Given the description of an element on the screen output the (x, y) to click on. 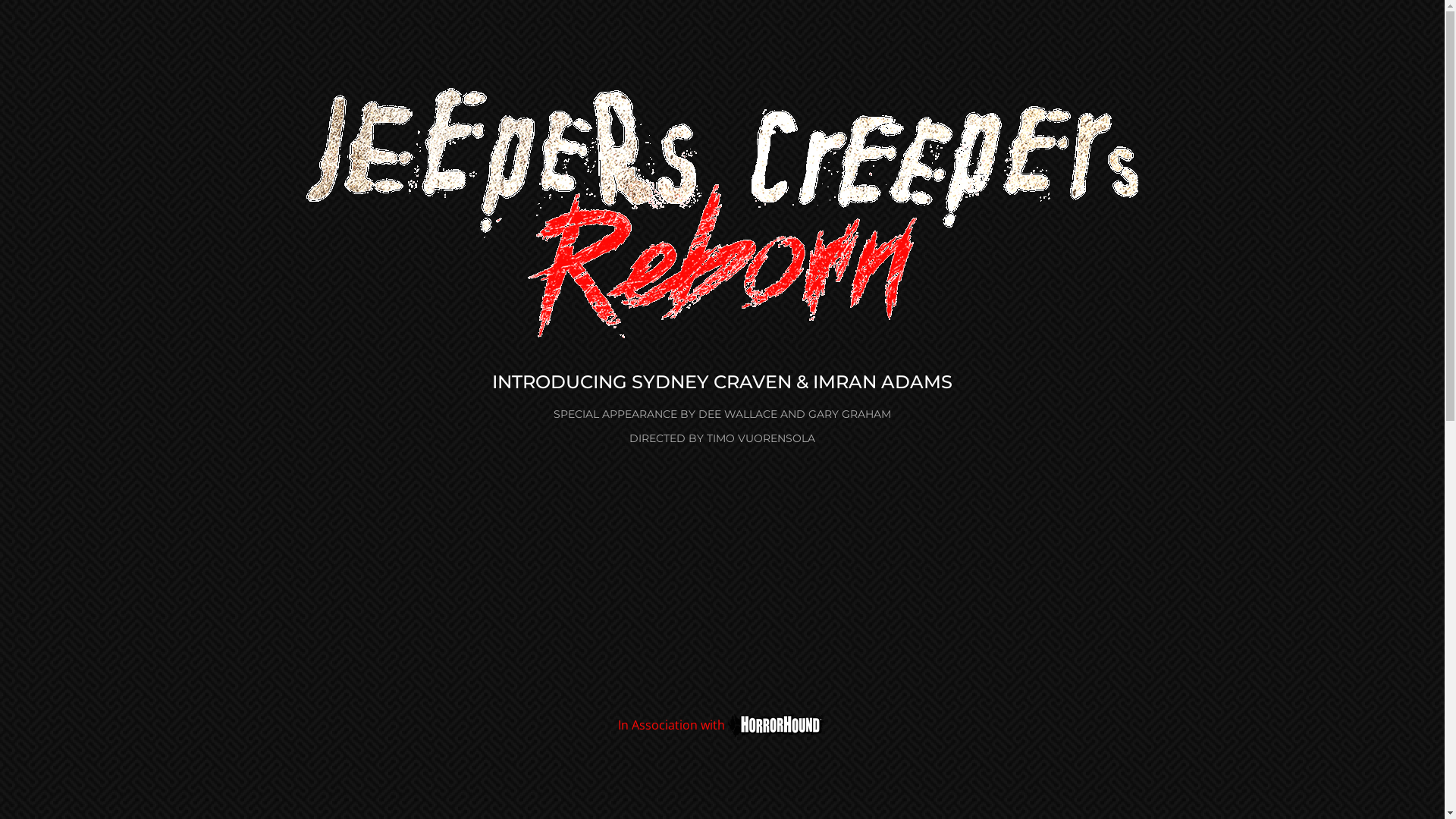
In Association with Element type: text (721, 725)
